Given the description of an element on the screen output the (x, y) to click on. 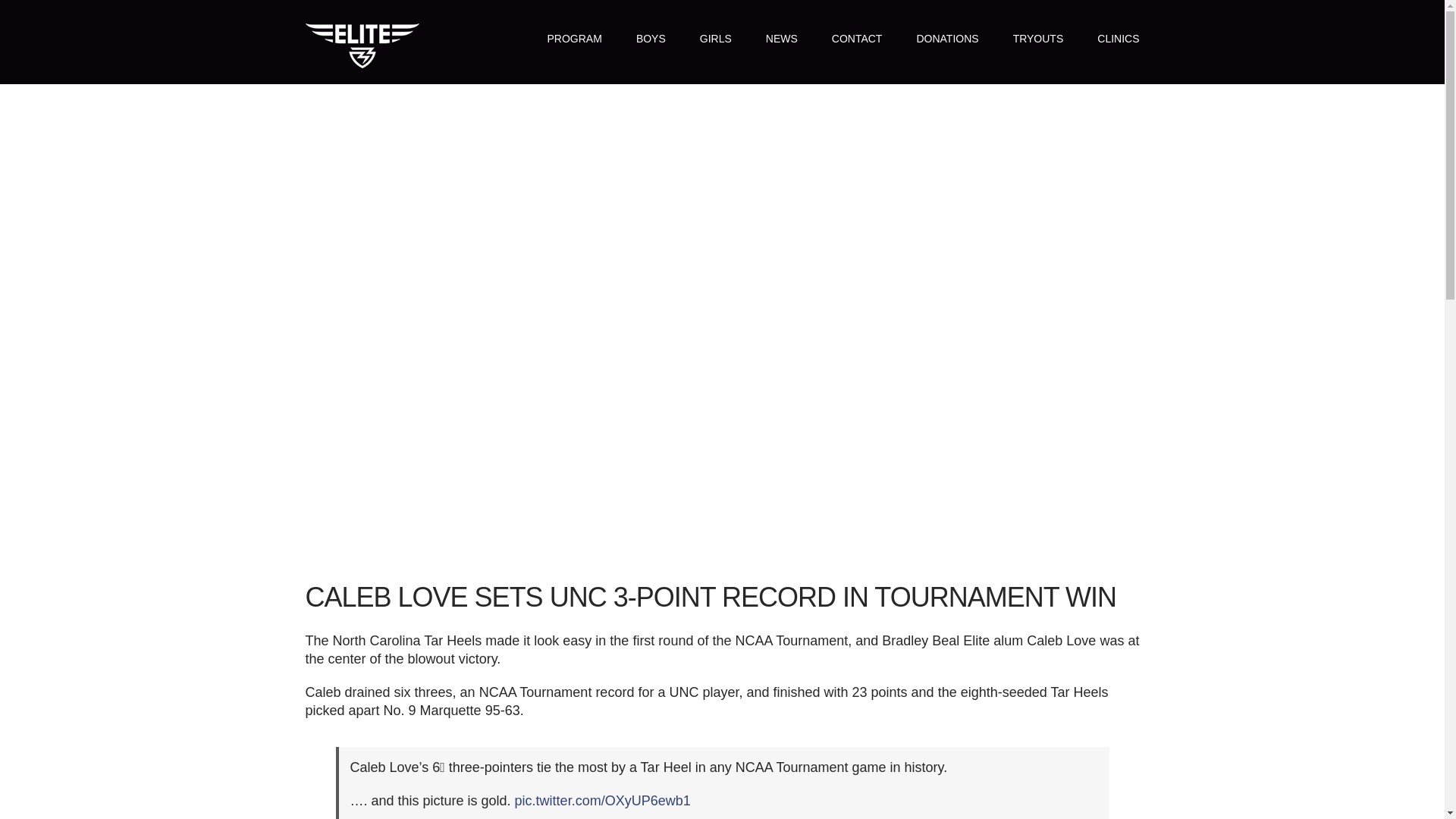
PROGRAM (574, 37)
DONATIONS (946, 37)
